Given the description of an element on the screen output the (x, y) to click on. 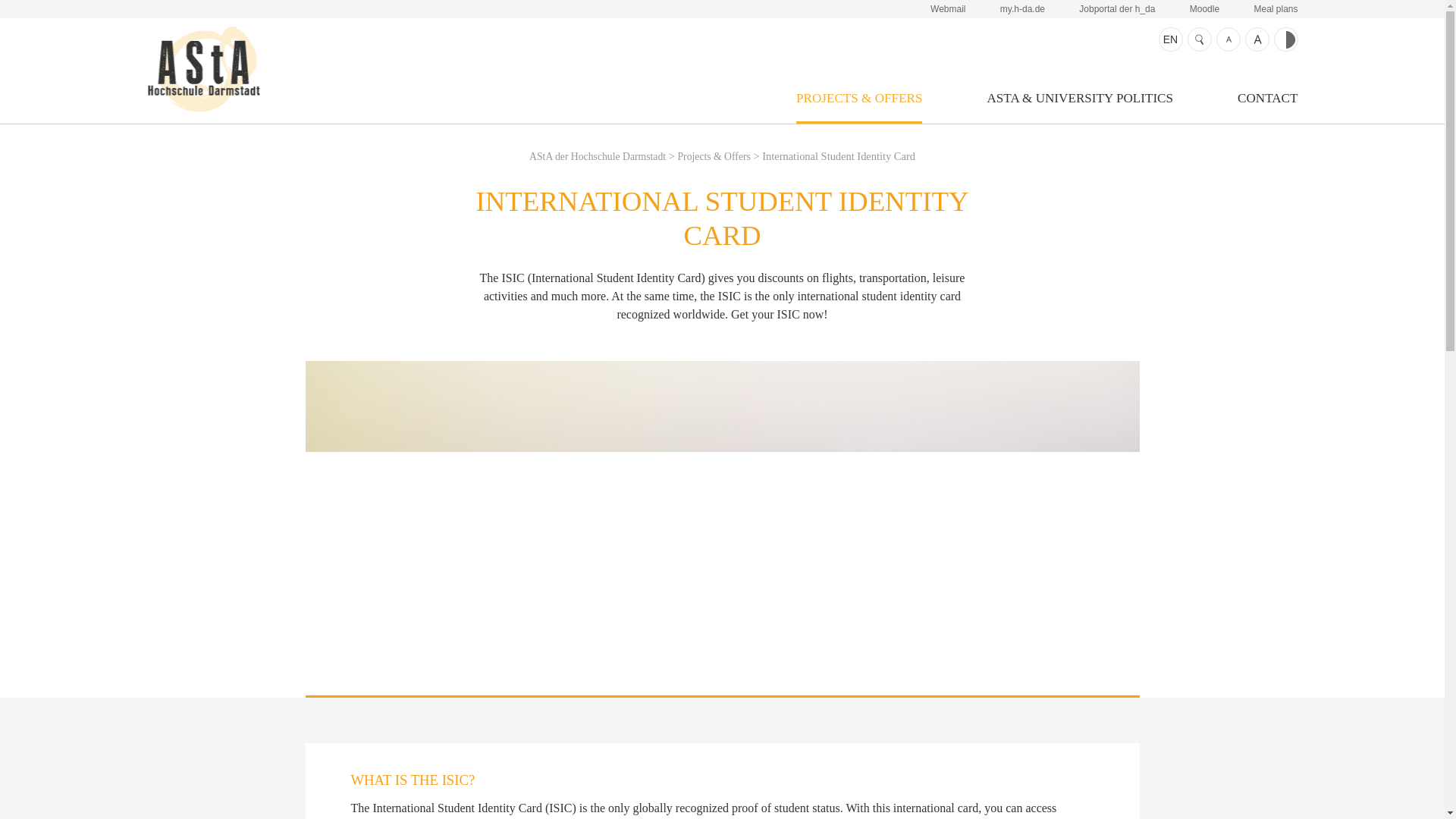
CONTACT (1267, 106)
Webmail (947, 9)
AStA der Hochschule Darmstadt (597, 156)
Search (1199, 39)
Text smaller (1227, 39)
Meal plans (1275, 9)
Text bigger (1256, 39)
AStA der Hochschule Darmstadt (203, 68)
Contrast (1286, 39)
my.h-da.de (1022, 9)
EN (1170, 39)
Moodle (1204, 9)
